Given the description of an element on the screen output the (x, y) to click on. 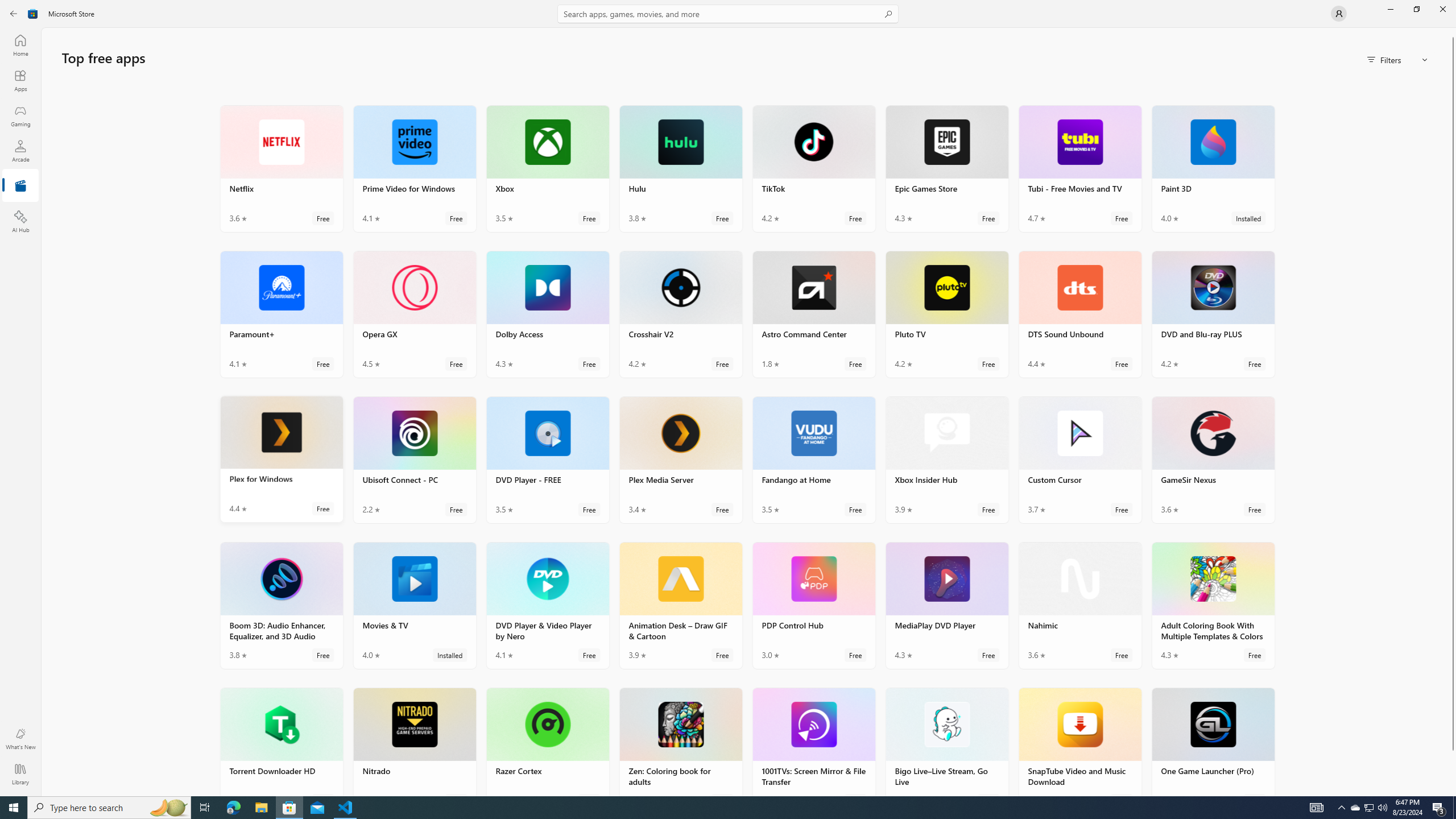
Minimize Microsoft Store (1390, 9)
Vertical (1452, 412)
